Given the description of an element on the screen output the (x, y) to click on. 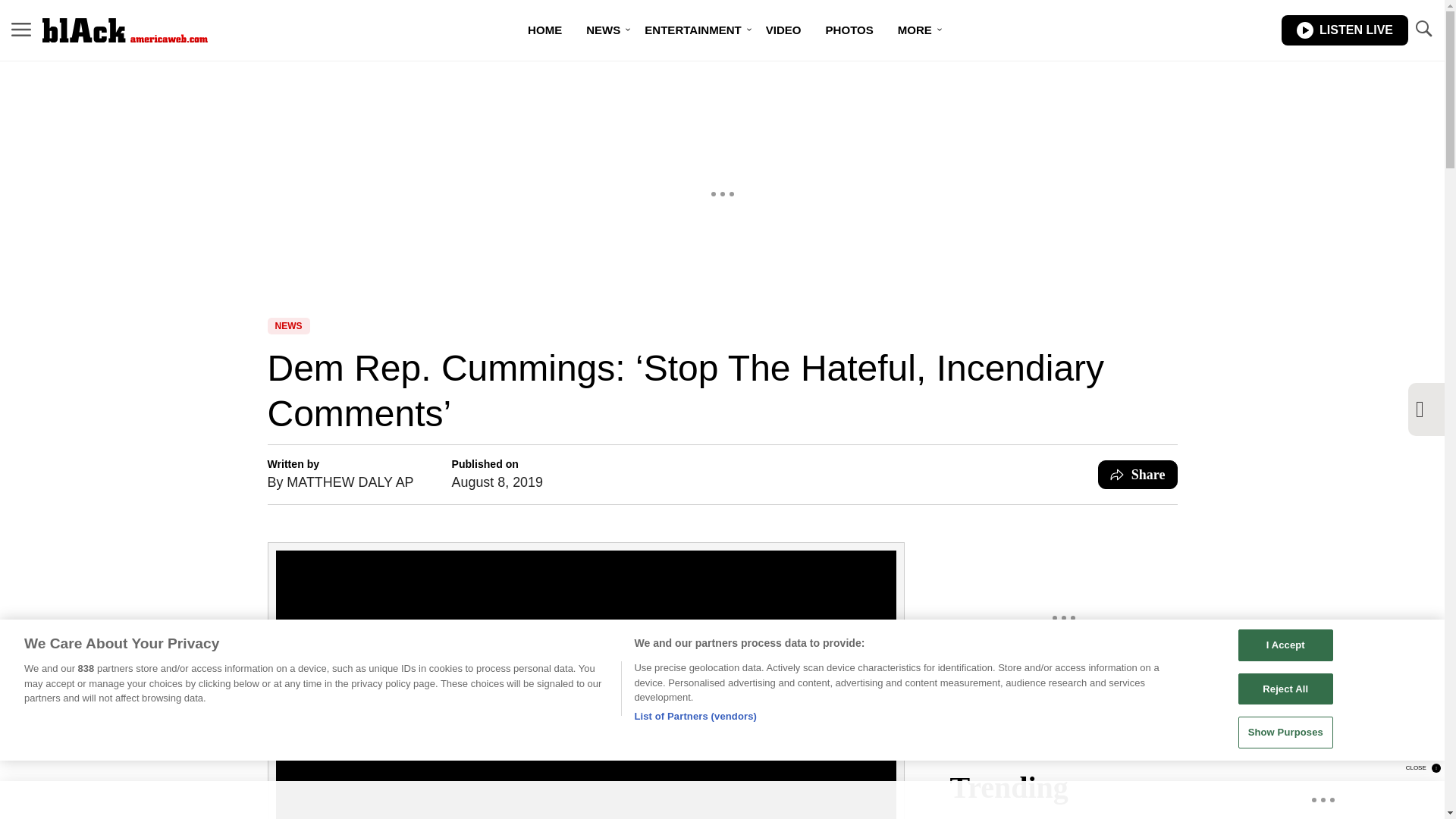
NEWS (602, 30)
ENTERTAINMENT (691, 30)
By MATTHEW DALY AP (339, 482)
TOGGLE SEARCH (1422, 28)
NEWS (287, 325)
VIDEO (783, 30)
MENU (20, 30)
LISTEN LIVE (1344, 30)
MORE (914, 30)
PHOTOS (849, 30)
